Given the description of an element on the screen output the (x, y) to click on. 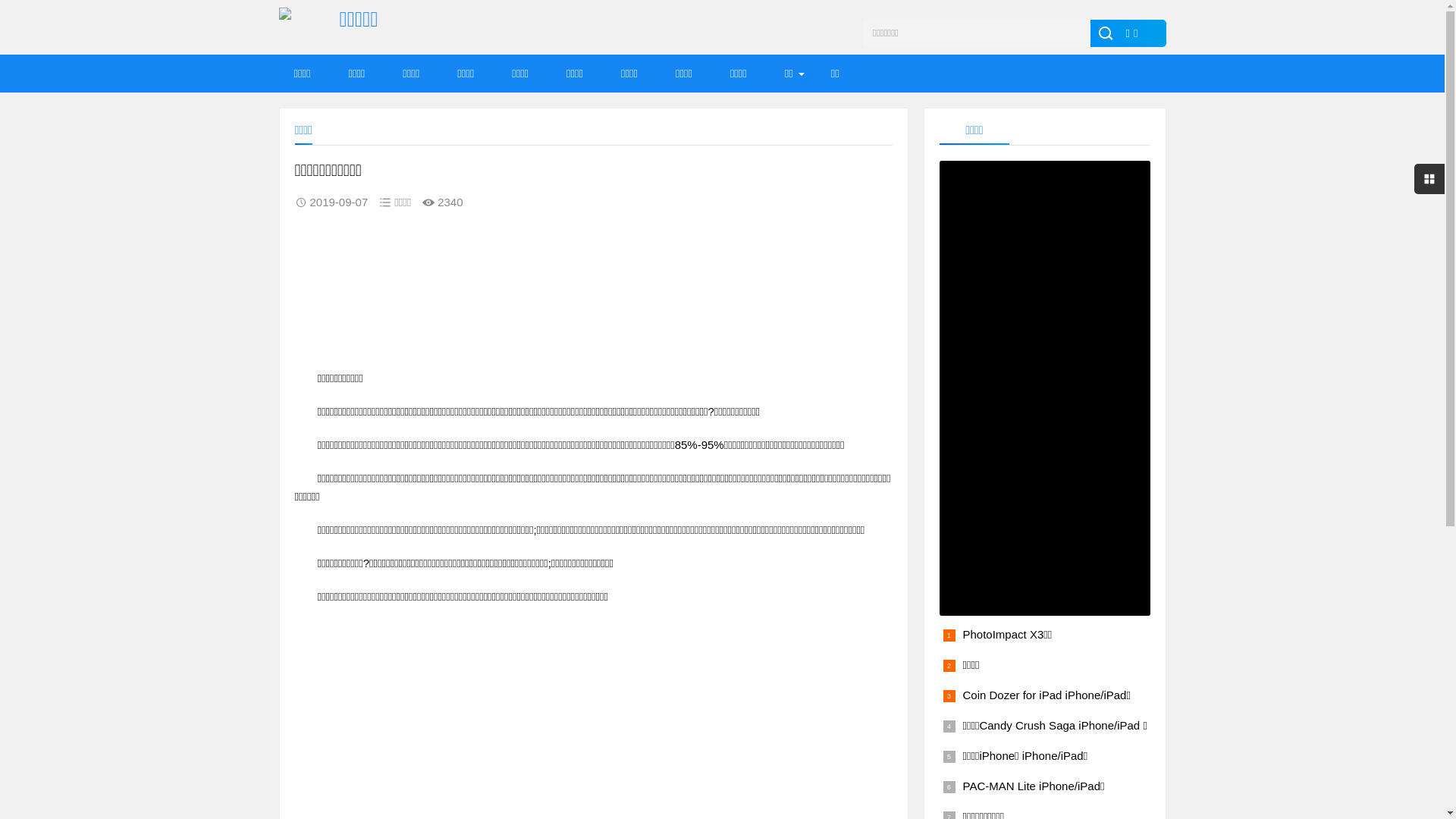
Advertisement Element type: hover (592, 710)
Advertisement Element type: hover (1043, 387)
Advertisement Element type: hover (592, 294)
